Given the description of an element on the screen output the (x, y) to click on. 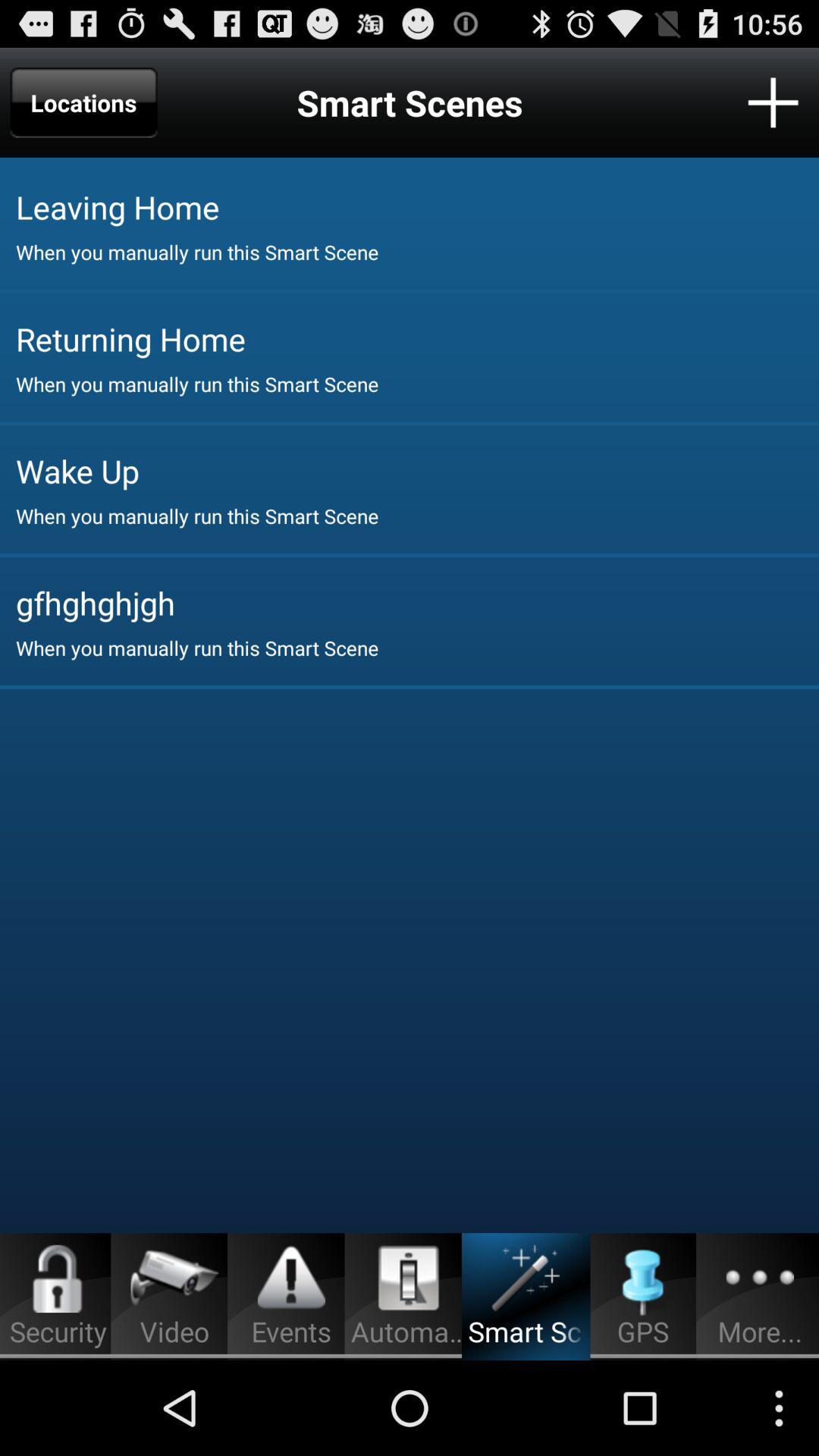
add location (773, 102)
